Given the description of an element on the screen output the (x, y) to click on. 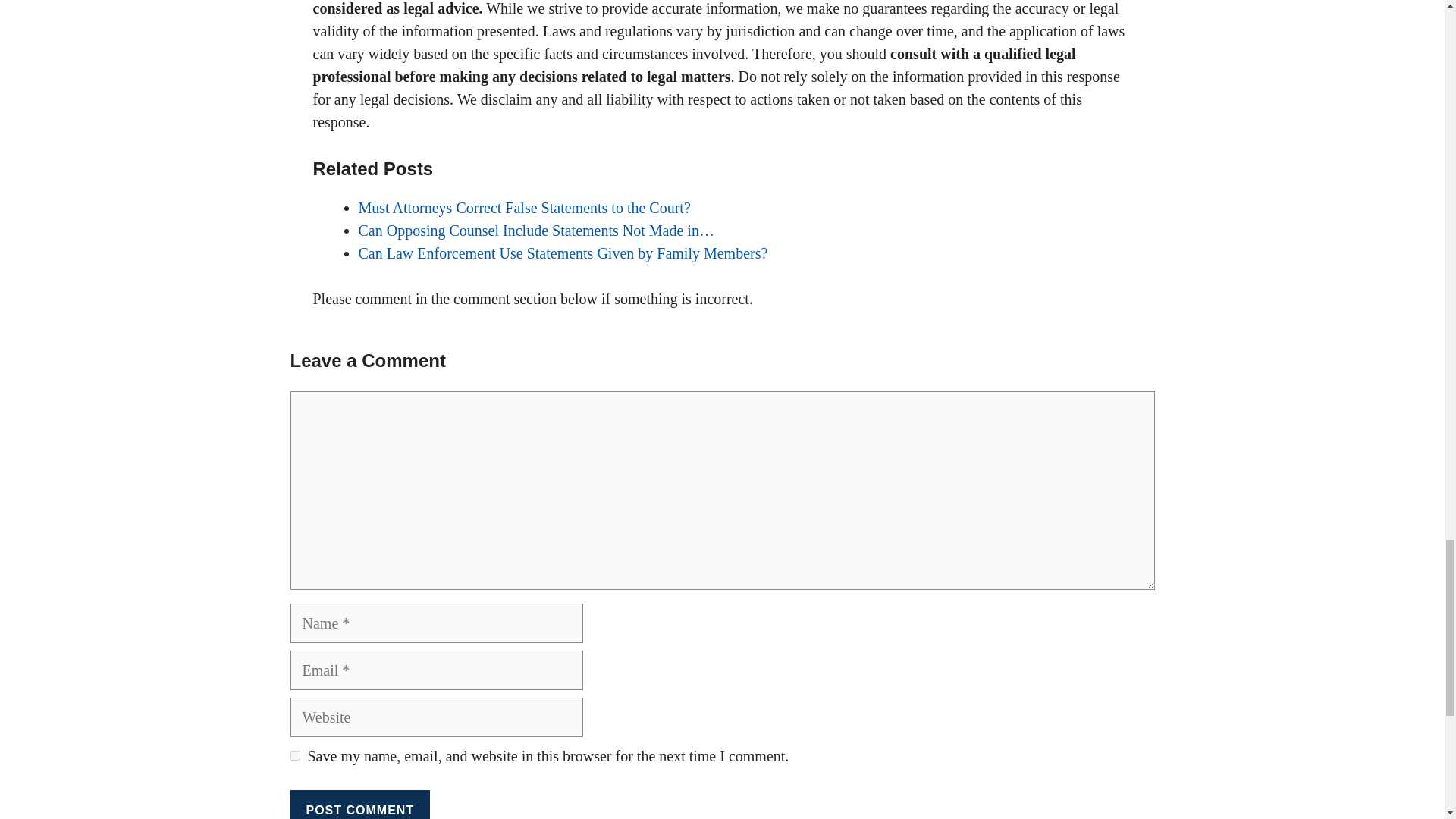
yes (294, 755)
Post Comment (359, 804)
Must Attorneys Correct False Statements to the Court? (524, 207)
Post Comment (359, 804)
Can Law Enforcement Use Statements Given by Family Members? (562, 252)
